Given the description of an element on the screen output the (x, y) to click on. 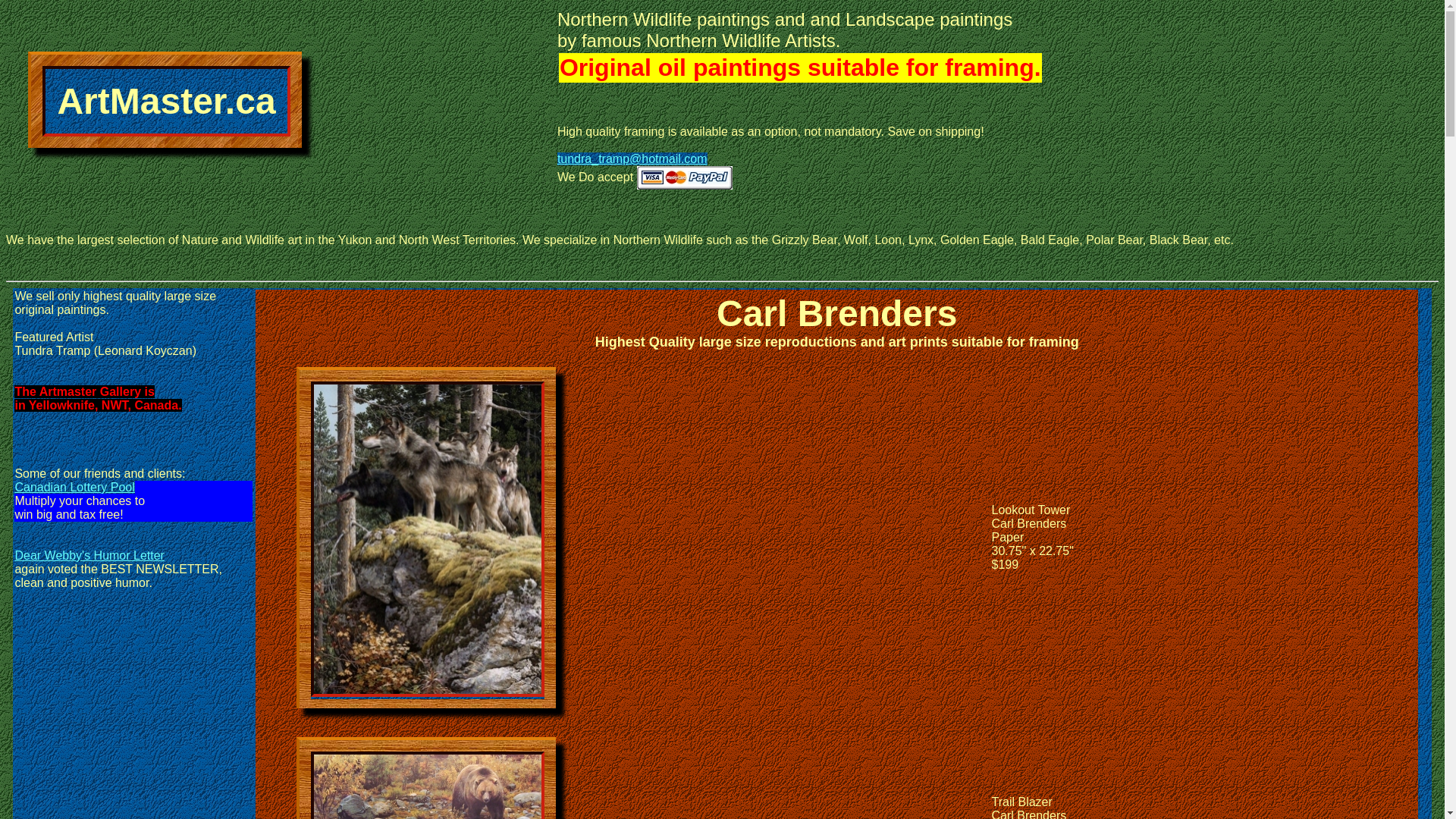
Dear Webby's Humor Letter Element type: text (89, 555)
ArtMaster.ca Element type: text (165, 100)
Canadian Lottery Pool Element type: text (74, 486)
tundra_tramp@hotmail.com Element type: text (632, 158)
